Given the description of an element on the screen output the (x, y) to click on. 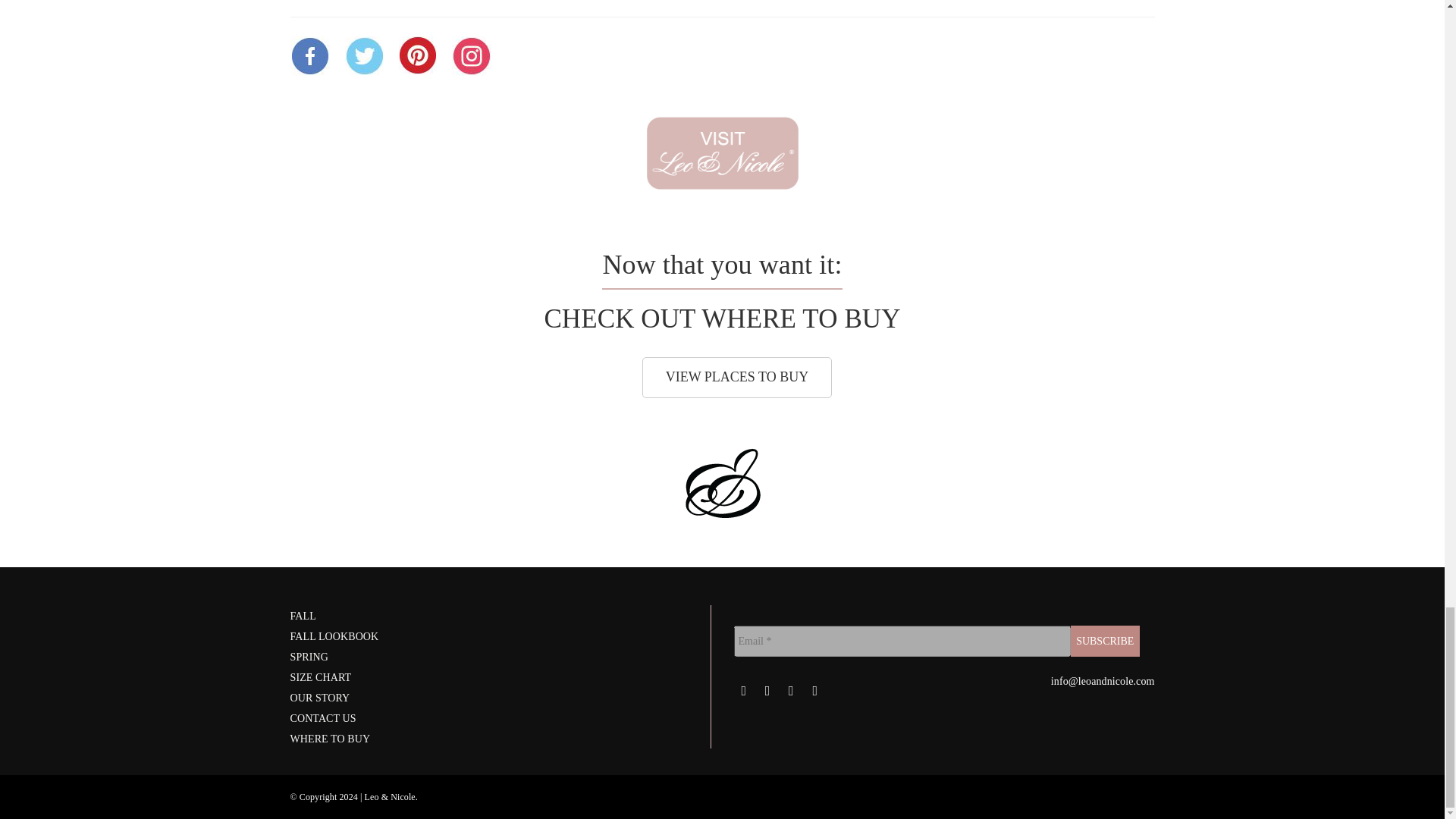
SUBSCRIBE (1105, 640)
